Given the description of an element on the screen output the (x, y) to click on. 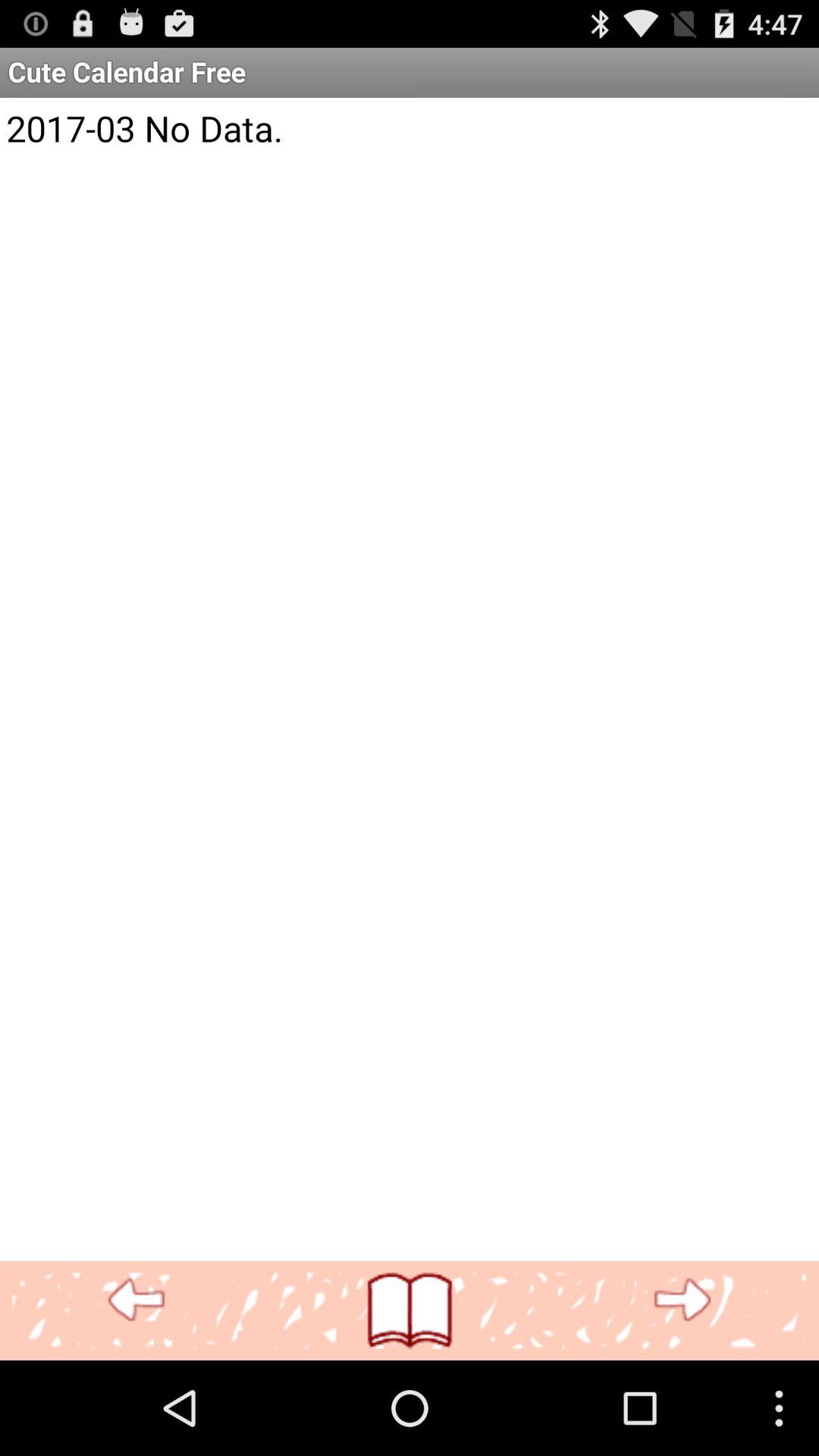
click the icon at the bottom (409, 1310)
